Given the description of an element on the screen output the (x, y) to click on. 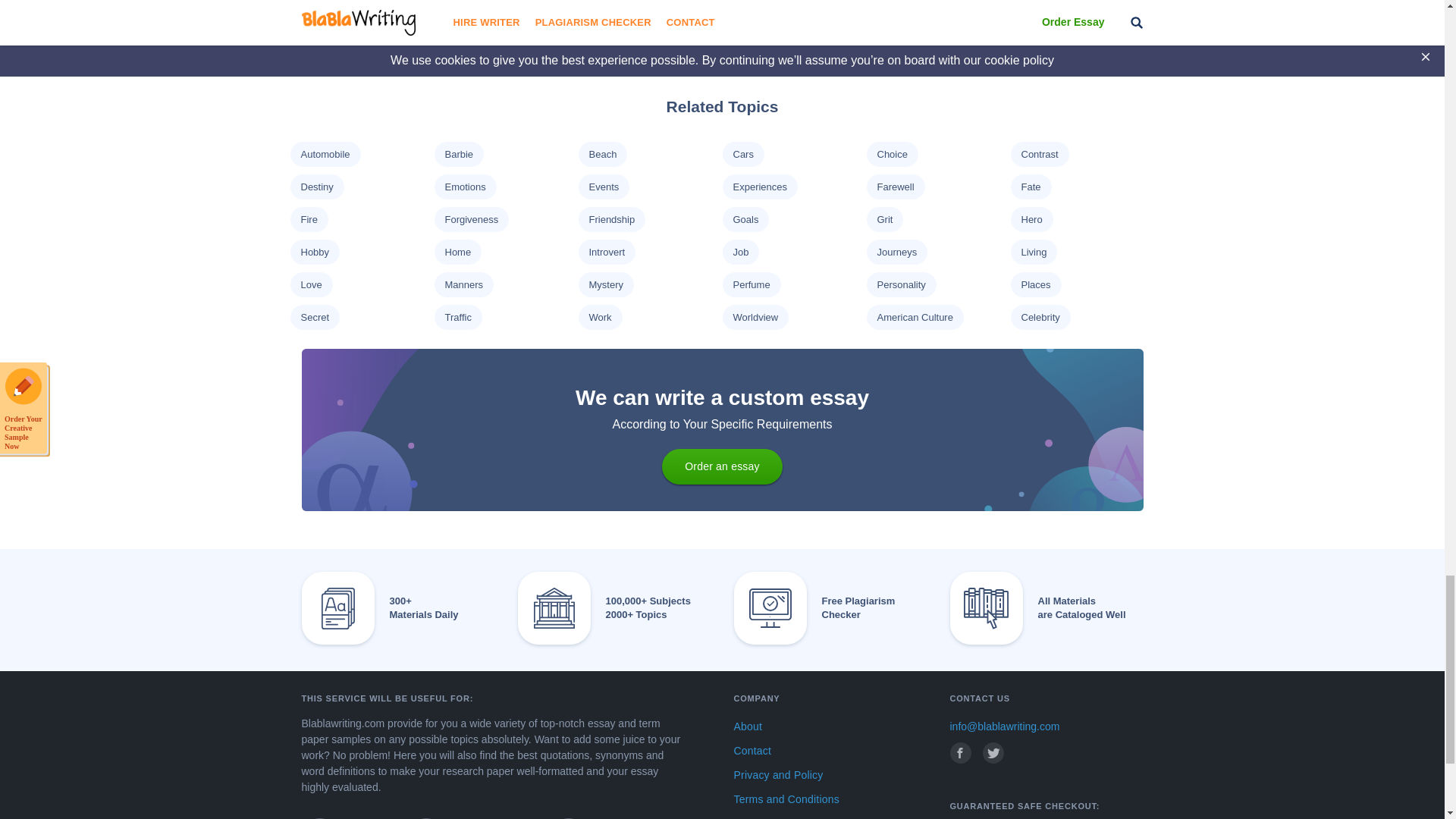
Emotions (464, 186)
Barbie (458, 153)
Destiny (316, 186)
Experiences (759, 186)
Automobile (324, 153)
Choice (891, 153)
Goals (745, 219)
Fate (1030, 186)
Farewell (895, 186)
Cars (742, 153)
Friendship (611, 219)
Fire (308, 219)
Beach (601, 153)
Contrast (1039, 153)
Events (603, 186)
